Given the description of an element on the screen output the (x, y) to click on. 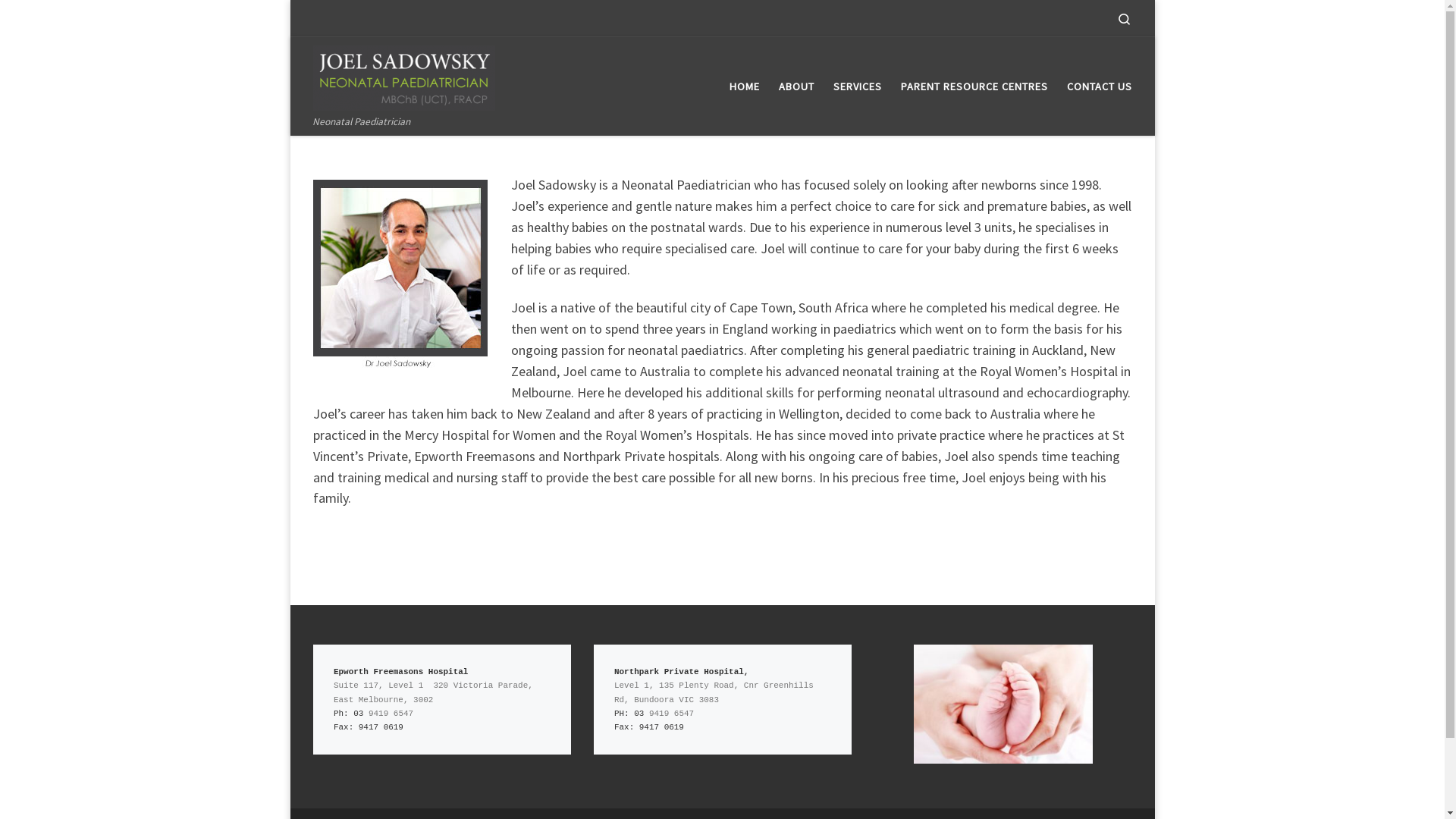
HOME Element type: text (744, 86)
Skip to content Element type: text (57, 21)
ABOUT Element type: text (796, 86)
Search Element type: text (1123, 18)
SERVICES Element type: text (857, 86)
CONTACT US Element type: text (1098, 86)
9419 6547 Element type: text (671, 713)
9419 6547 Element type: text (390, 713)
PARENT RESOURCE CENTRES Element type: text (973, 86)
